Given the description of an element on the screen output the (x, y) to click on. 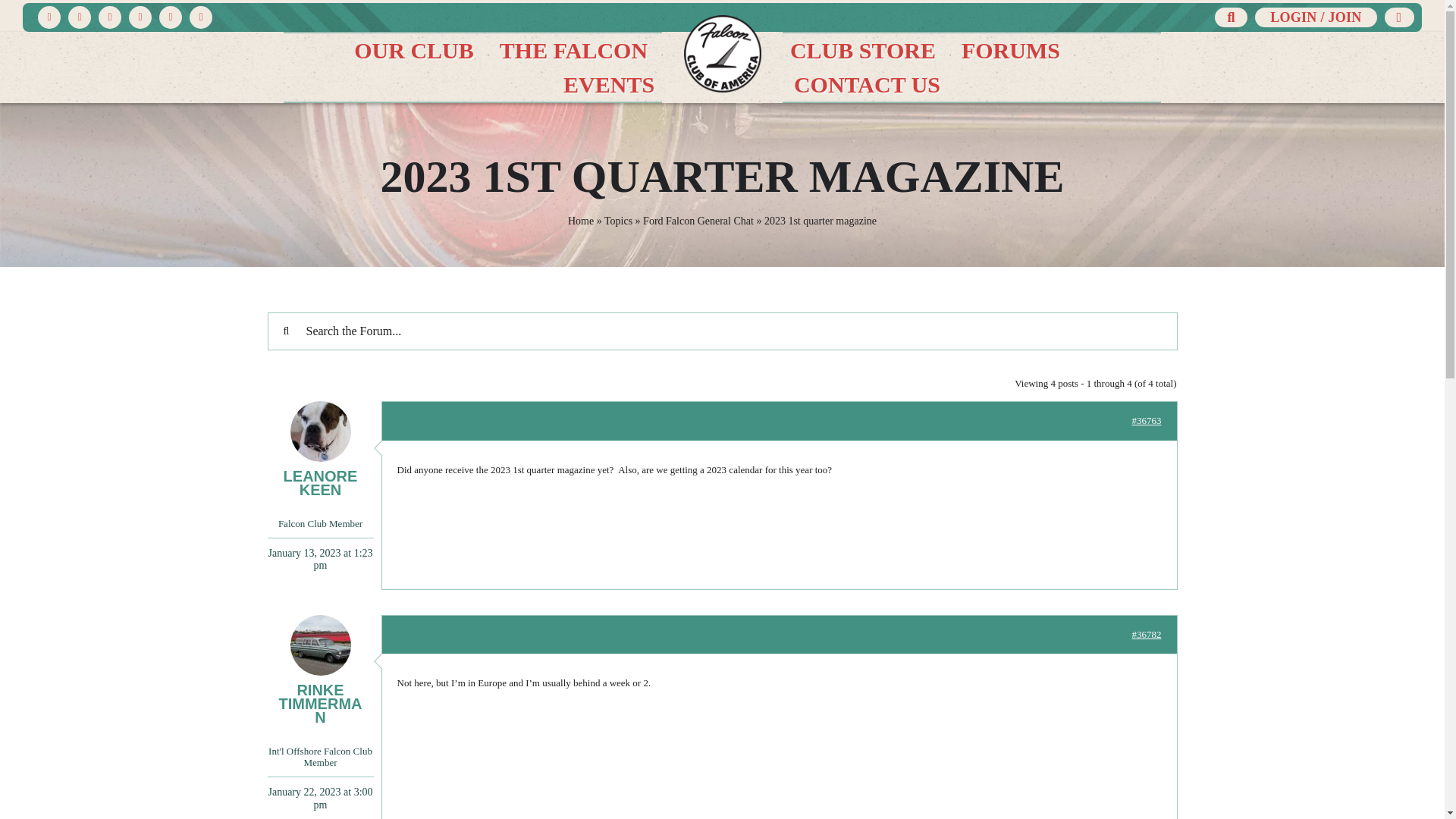
CLUB STORE (863, 50)
EVENTS (609, 84)
THE FALCON (573, 50)
View Leanore Keen's profile (319, 448)
View Rinke Timmerman's profile (319, 669)
CONTACT US (866, 84)
OUR CLUB (413, 50)
FORUMS (1010, 50)
